Given the description of an element on the screen output the (x, y) to click on. 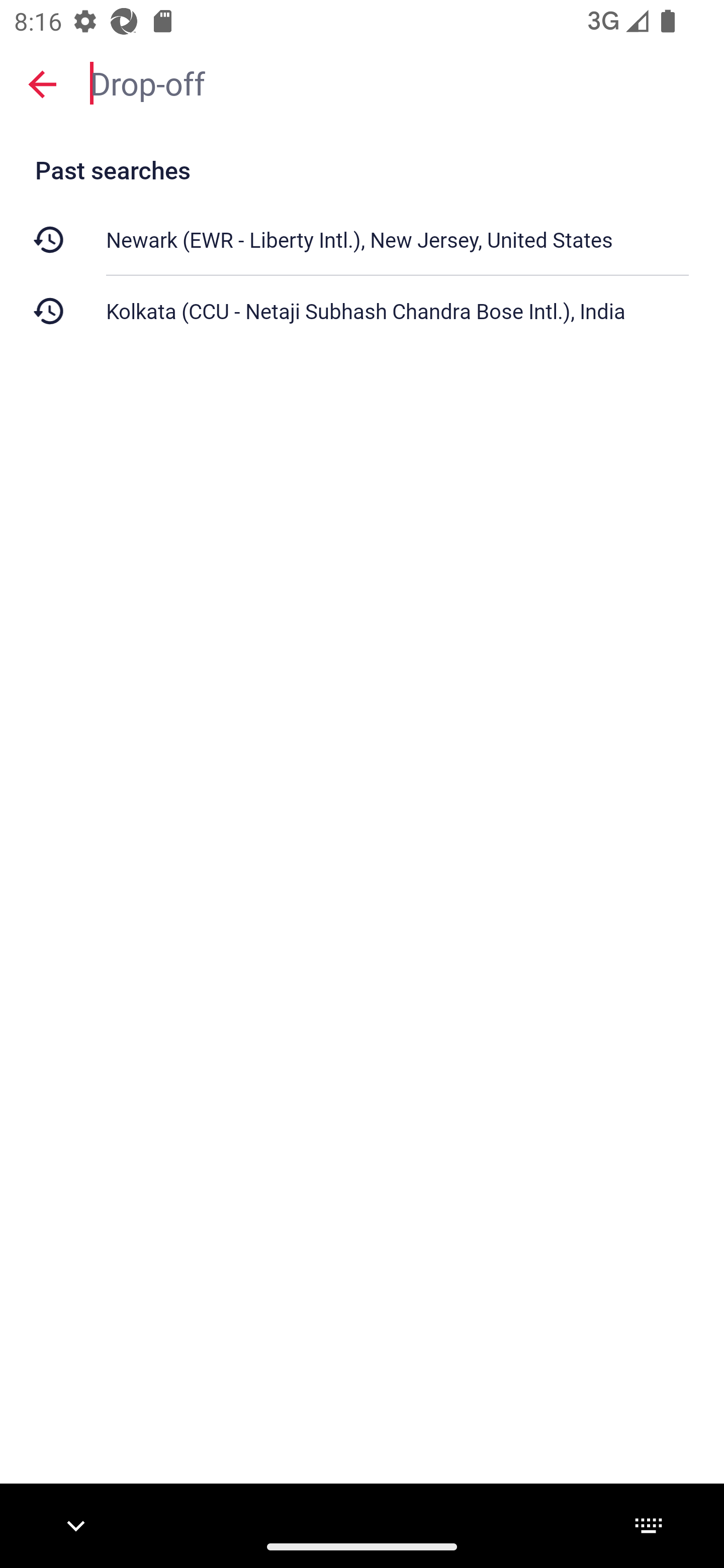
Drop-off,  (397, 82)
Close search screen (41, 83)
